Given the description of an element on the screen output the (x, y) to click on. 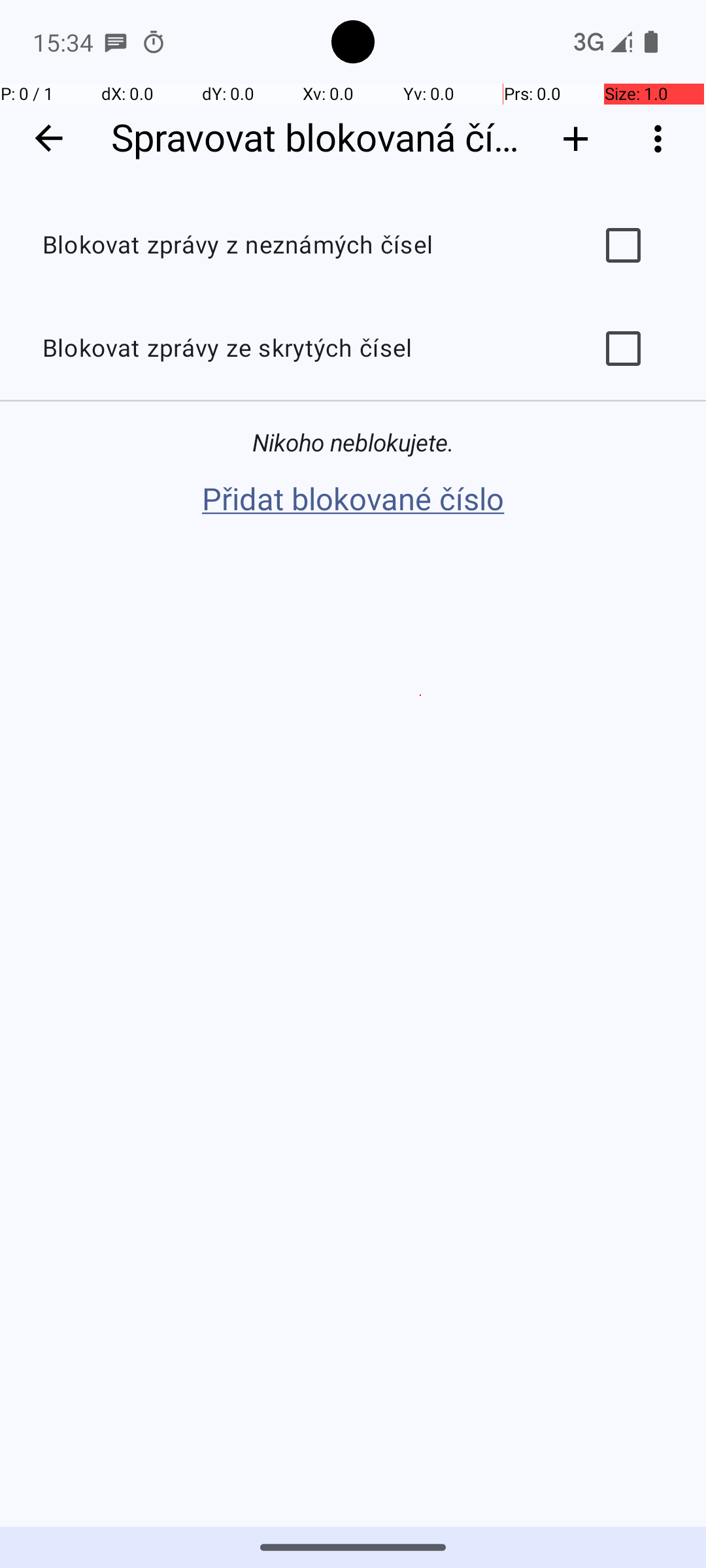
Nikoho neblokujete. Element type: android.widget.TextView (352, 443)
Spravovat blokovaná čísla Element type: android.widget.TextView (318, 138)
Blokovat zprávy z neznámých čísel Element type: android.widget.TextView (297, 244)
Blokovat zprávy ze skrytých čísel Element type: android.widget.TextView (297, 348)
Přidat blokované číslo Element type: android.widget.TextView (352, 499)
Zpět Element type: android.view.View (48, 137)
